Given the description of an element on the screen output the (x, y) to click on. 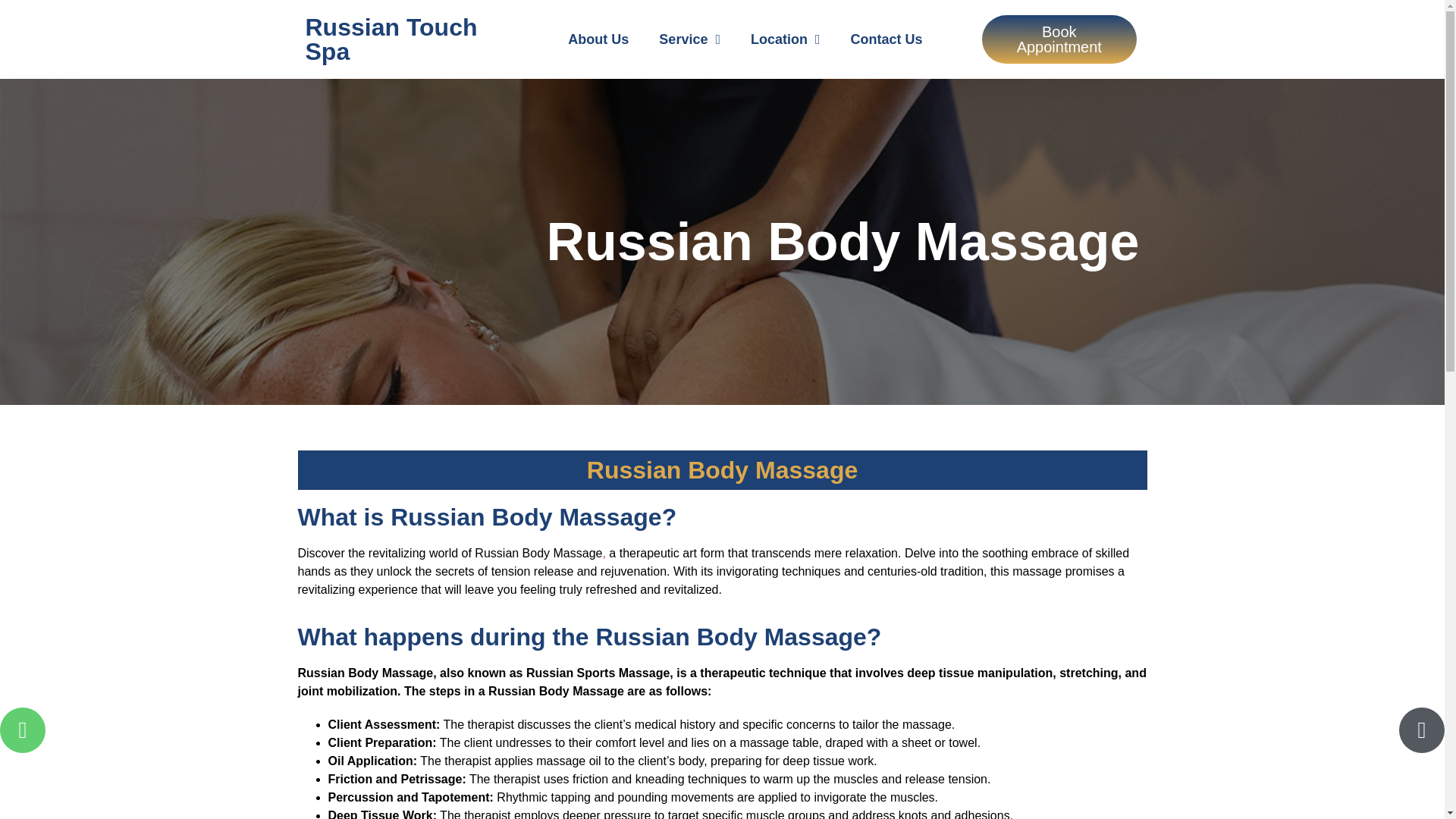
Russian Touch Spa (390, 39)
Contact Us (886, 39)
Location (785, 39)
Book Appointment (1059, 39)
Service (689, 39)
About Us (598, 39)
